Given the description of an element on the screen output the (x, y) to click on. 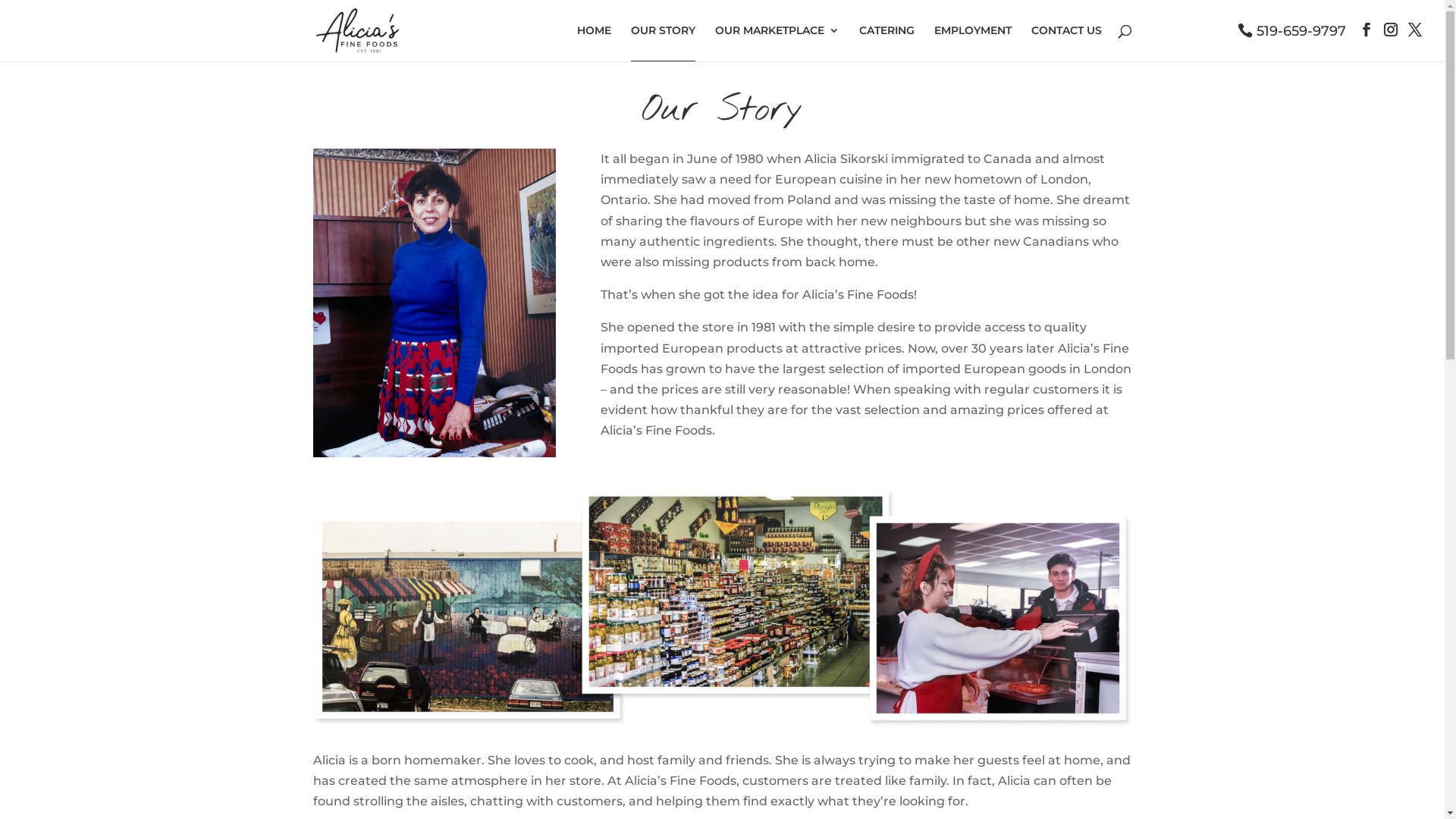
OUR STORY Element type: text (662, 43)
EMPLOYMENT Element type: text (972, 42)
519-659-9797 Element type: text (1291, 30)
CATERING Element type: text (885, 42)
OUR MARKETPLACE Element type: text (776, 42)
CONTACT US Element type: text (1066, 42)
HOME Element type: text (593, 42)
